Given the description of an element on the screen output the (x, y) to click on. 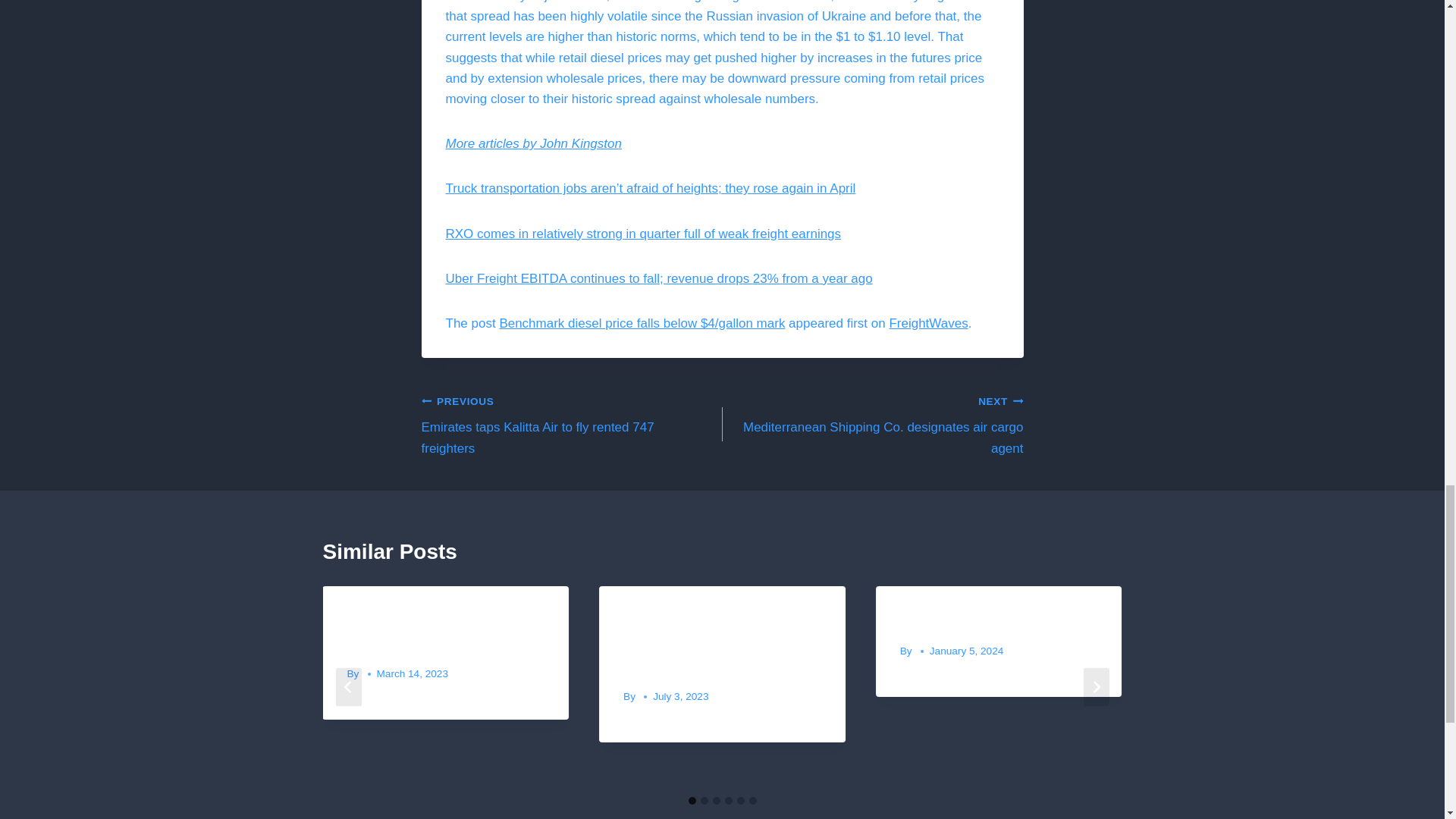
More articles by John Kingston (872, 424)
FreightWaves (533, 143)
